Given the description of an element on the screen output the (x, y) to click on. 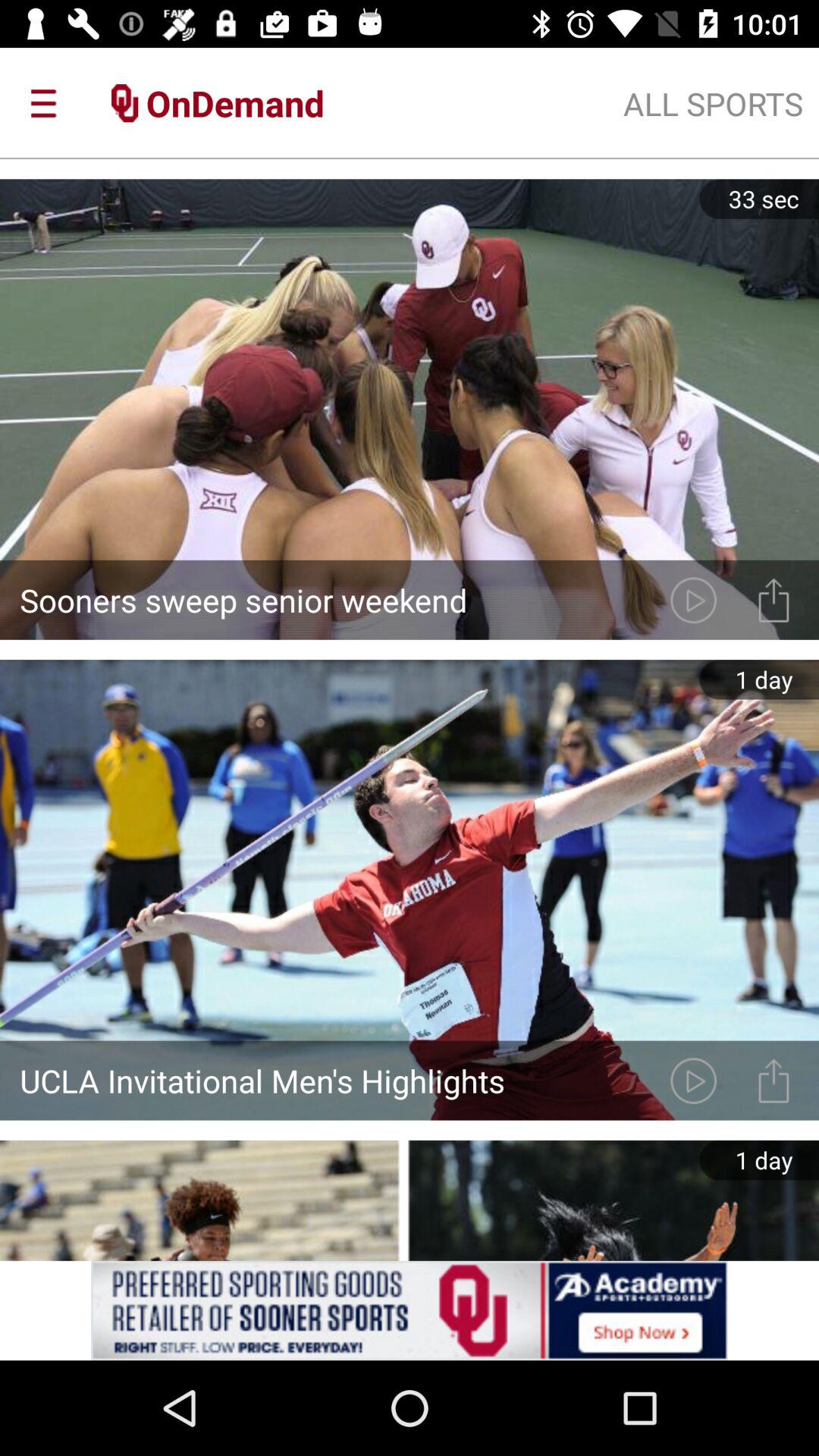
gallary (773, 1080)
